Given the description of an element on the screen output the (x, y) to click on. 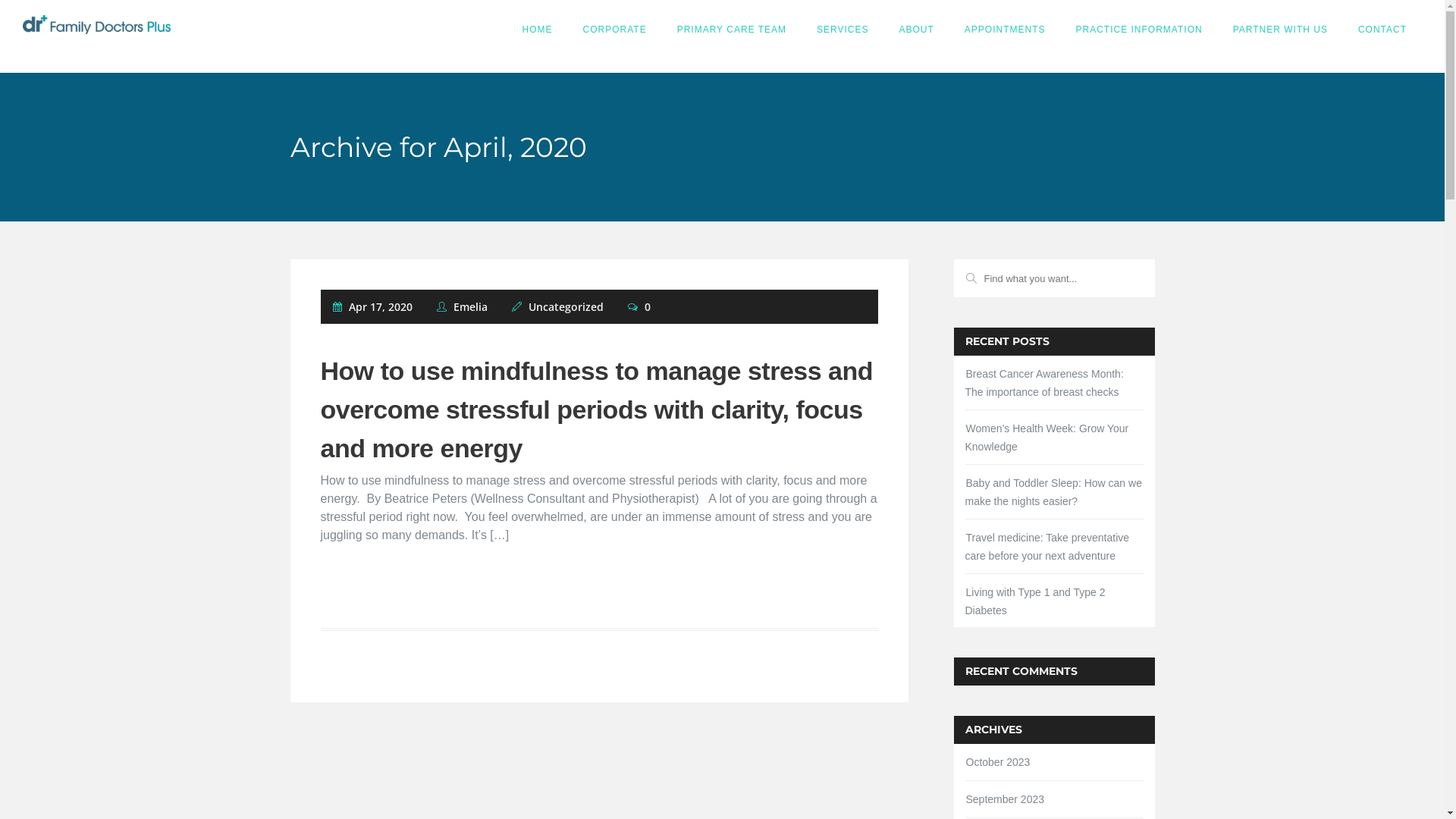
PRACTICE INFORMATION Element type: text (1138, 28)
0 Element type: text (638, 306)
CORPORATE Element type: text (614, 28)
Living with Type 1 and Type 2 Diabetes Element type: text (1034, 601)
Uncategorized Element type: text (564, 306)
CONTACT Element type: text (1382, 28)
September 2023 Element type: text (1005, 799)
PRIMARY CARE TEAM Element type: text (731, 28)
PARTNER WITH US Element type: text (1280, 28)
APPOINTMENTS Element type: text (1004, 28)
HOME Element type: text (537, 28)
Search Element type: text (100, 18)
SERVICES Element type: text (842, 28)
October 2023 Element type: text (998, 762)
ABOUT Element type: text (916, 28)
Emelia Element type: text (461, 306)
Baby and Toddler Sleep: How can we make the nights easier? Element type: text (1052, 491)
